Given the description of an element on the screen output the (x, y) to click on. 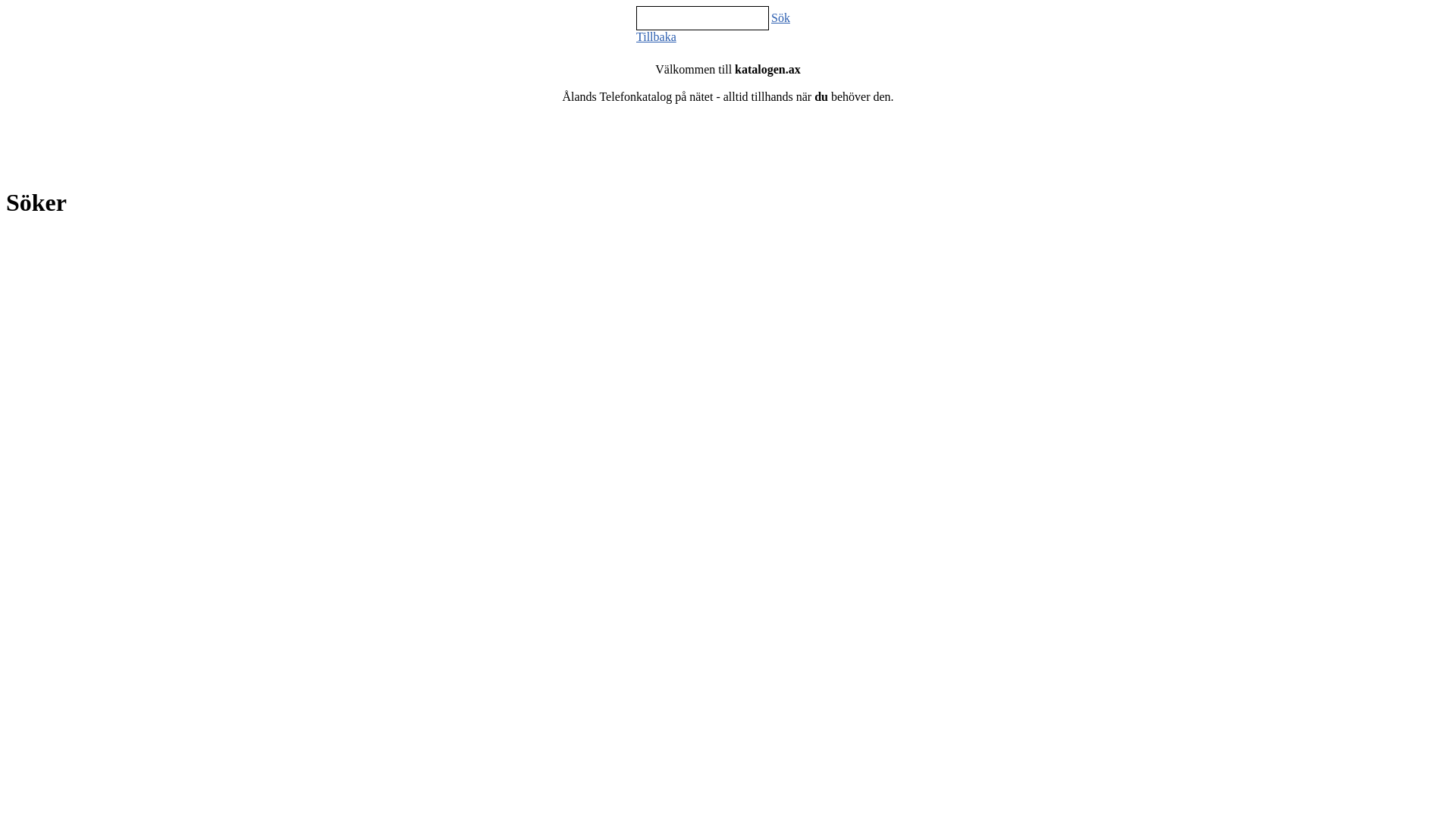
Tillbaka Element type: text (656, 36)
